Given the description of an element on the screen output the (x, y) to click on. 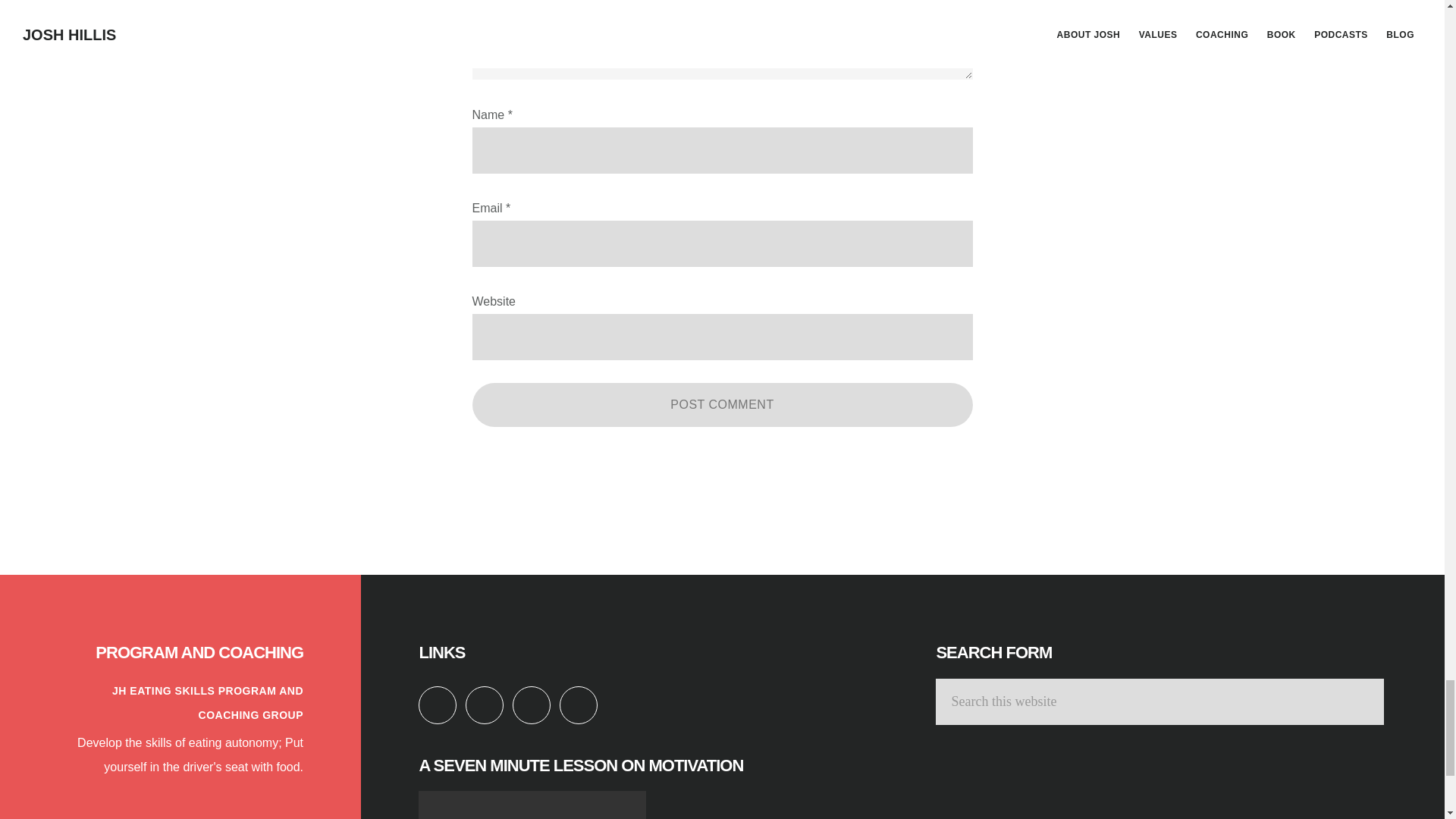
Post Comment (721, 404)
JH EATING SKILLS PROGRAM AND COACHING GROUP (207, 702)
Post Comment (721, 404)
